Given the description of an element on the screen output the (x, y) to click on. 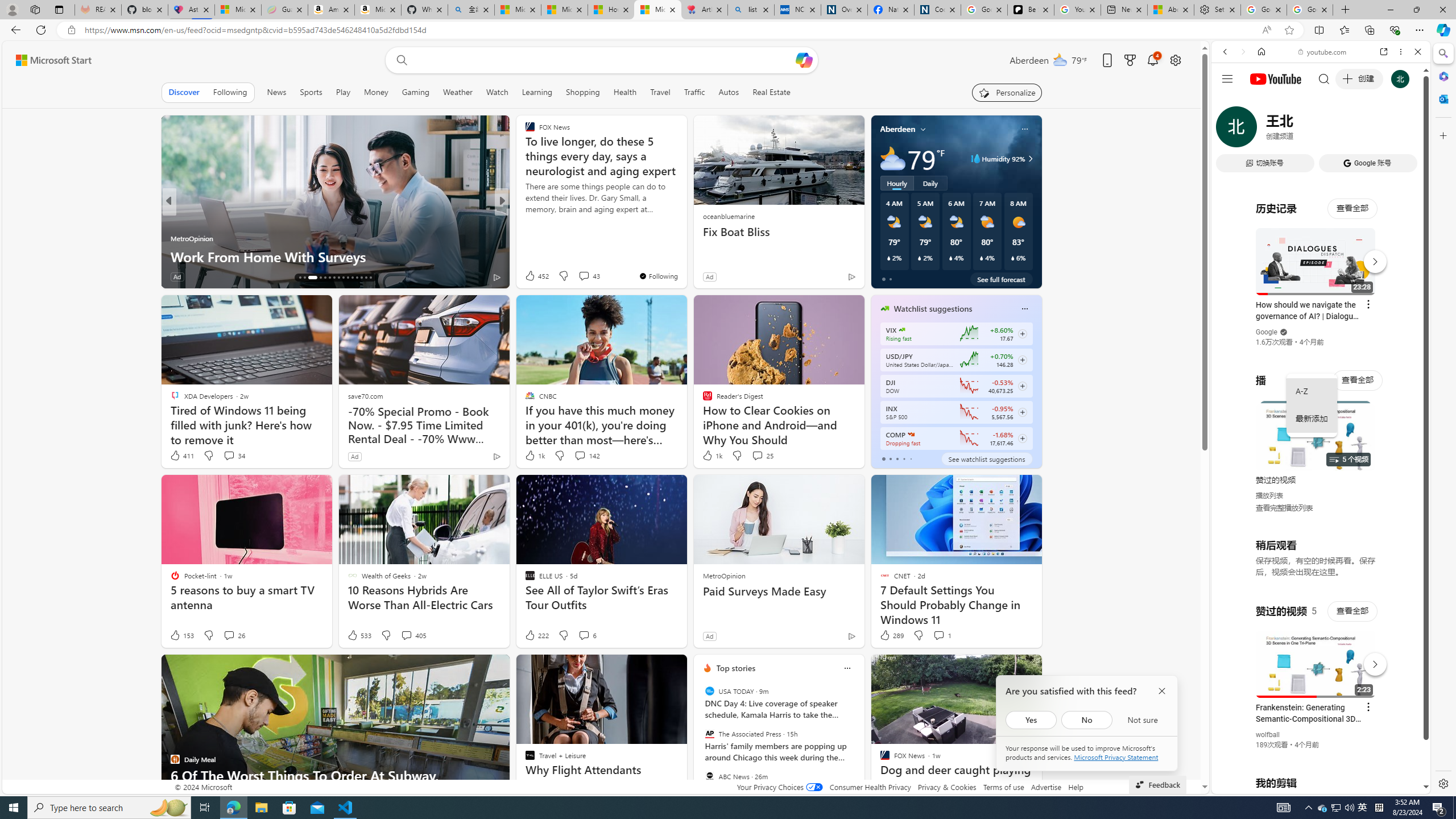
Mostly cloudy (892, 158)
1k Like (711, 455)
Autos (728, 92)
A-Z (1311, 391)
This site scope (1259, 102)
Microsoft rewards (1129, 60)
you (1315, 755)
222 Like (536, 634)
tab-1 (889, 458)
Web scope (1230, 102)
Forward (1242, 51)
